Given the description of an element on the screen output the (x, y) to click on. 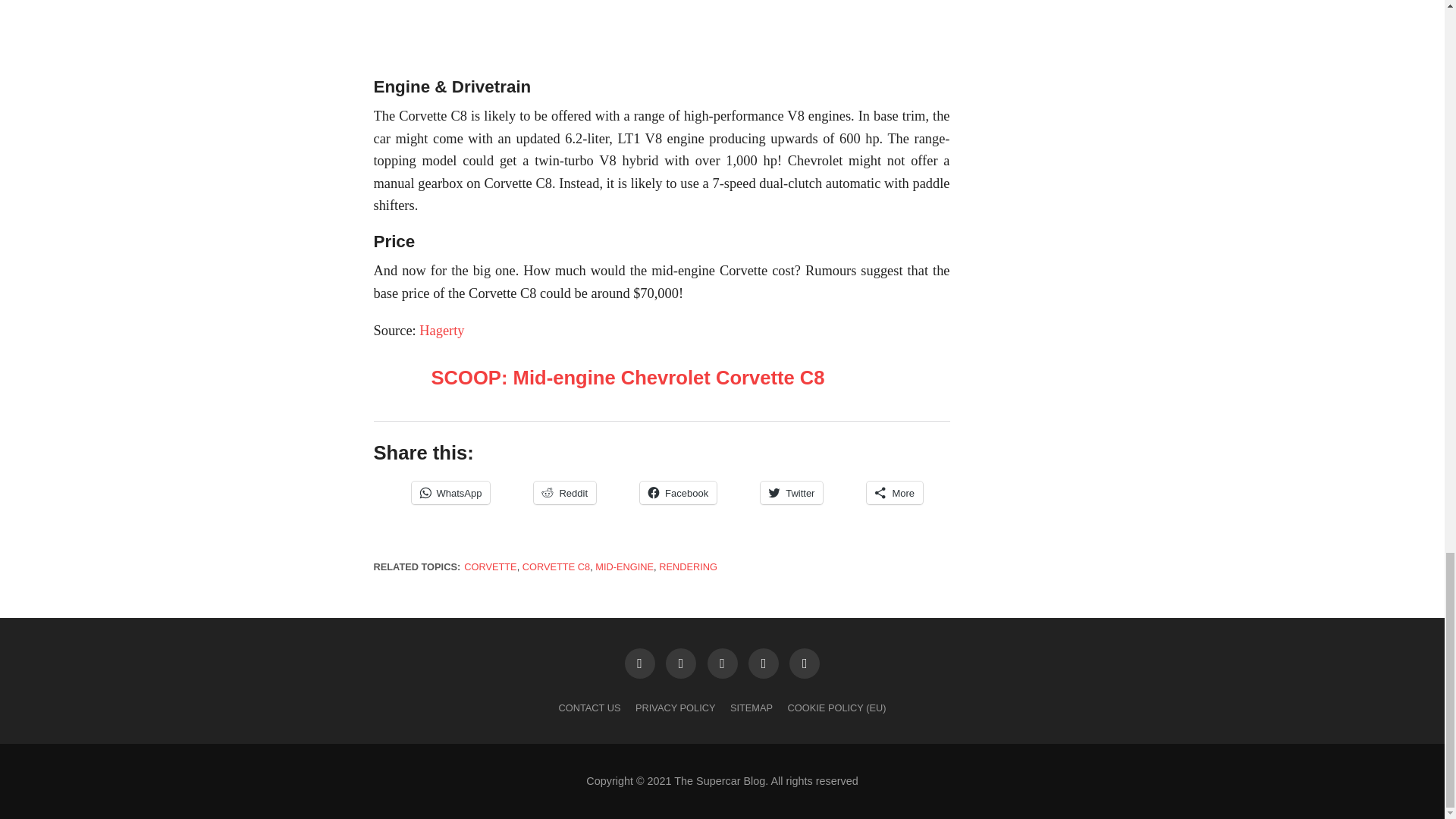
SCOOP: Mid-engine Chevrolet Corvette C8 (627, 377)
Twitter (791, 492)
Click to share on WhatsApp (449, 492)
CORVETTE C8 (555, 566)
More (894, 492)
RENDERING (688, 566)
Click to share on Facebook (678, 492)
Click to share on Twitter (791, 492)
Reddit (564, 492)
Click to share on Reddit (564, 492)
